Given the description of an element on the screen output the (x, y) to click on. 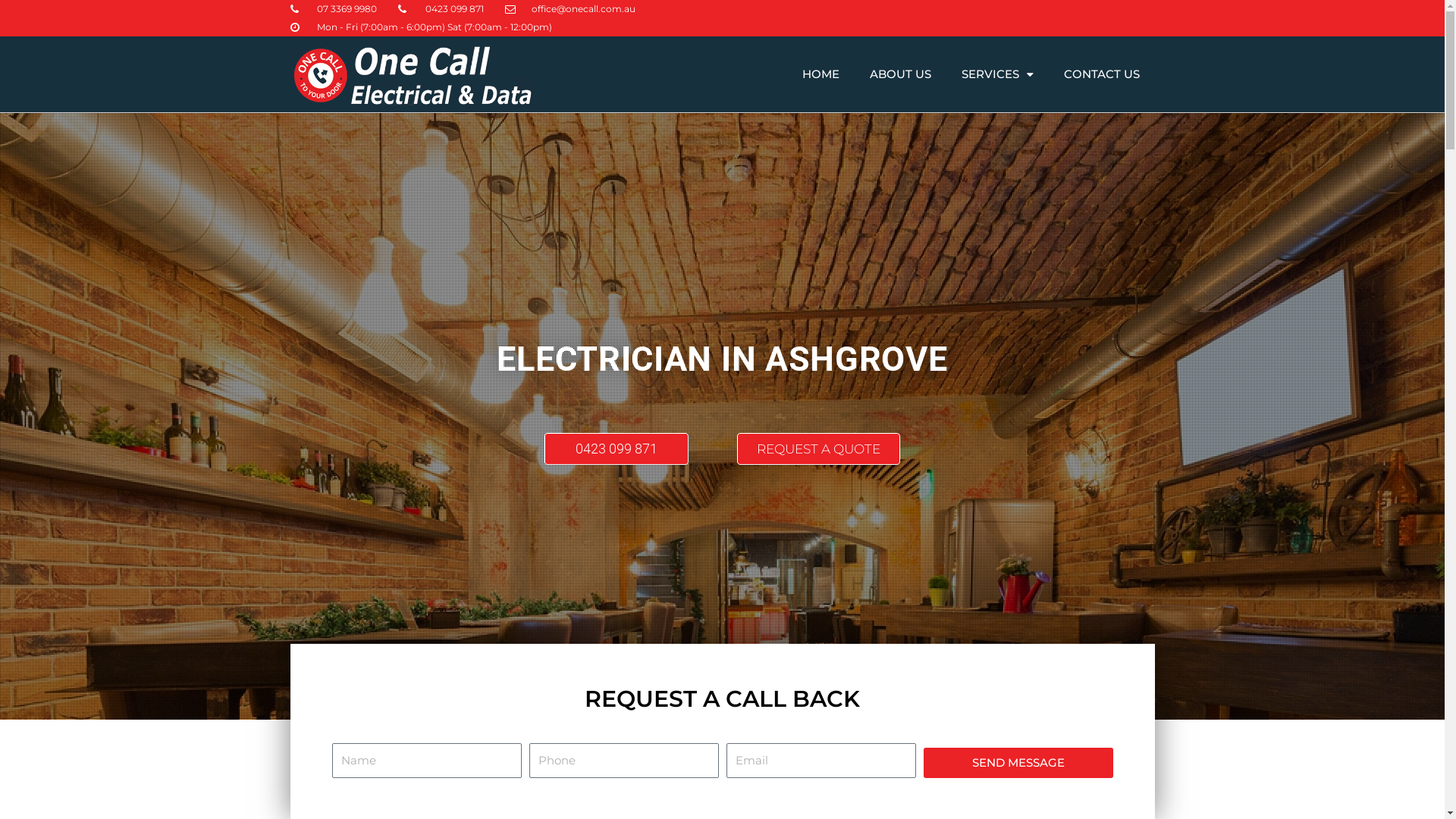
HOME Element type: text (820, 74)
SEND MESSAGE Element type: text (1018, 762)
07 3369 9980 Element type: text (332, 9)
SERVICES Element type: text (997, 74)
REQUEST A QUOTE Element type: text (818, 448)
CONTACT US Element type: text (1101, 74)
ABOUT US Element type: text (899, 74)
0423 099 871 Element type: text (440, 9)
office@onecall.com.au Element type: text (570, 9)
0423 099 871 Element type: text (616, 448)
